Given the description of an element on the screen output the (x, y) to click on. 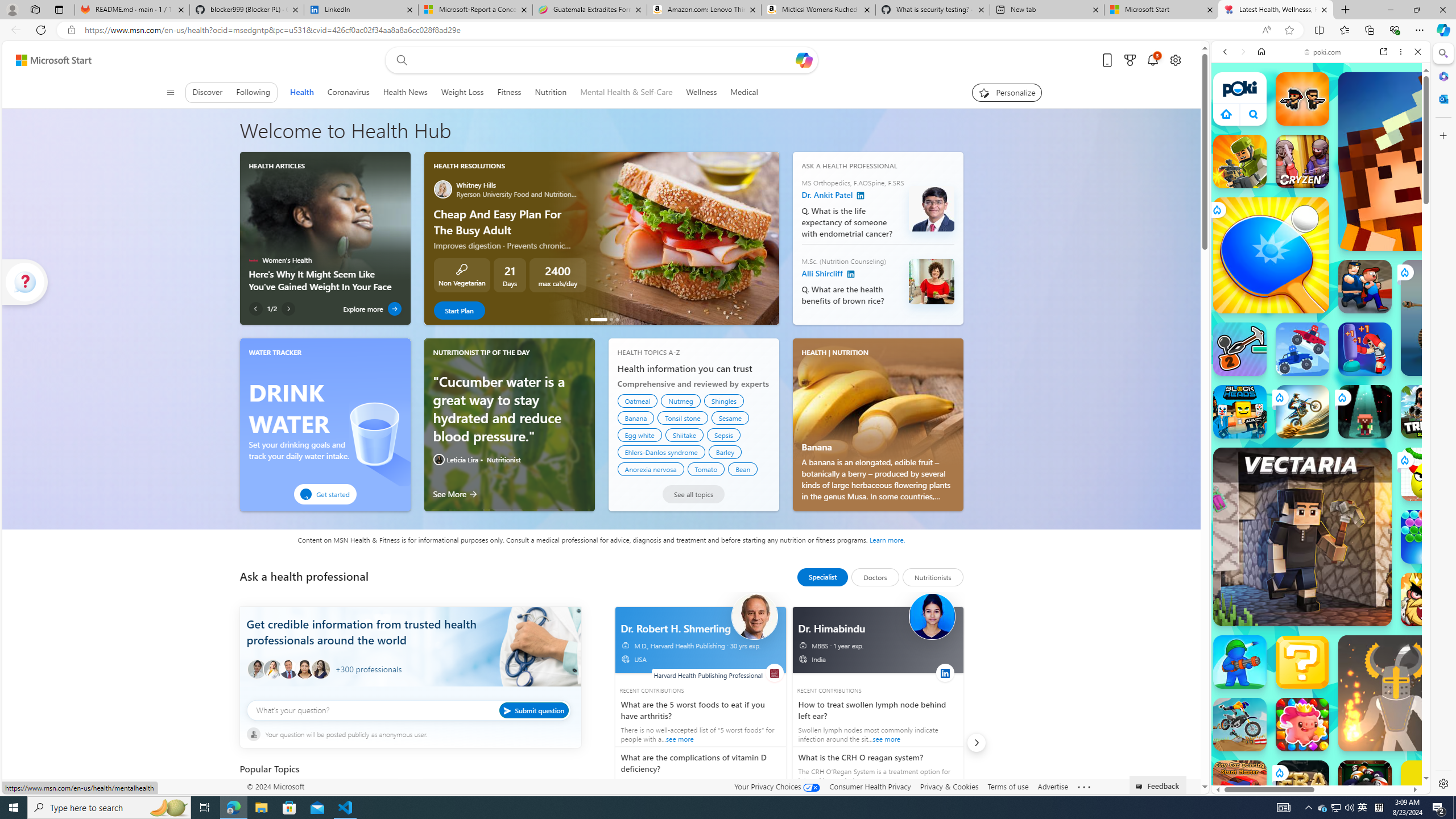
Punch Legend Simulator (1364, 348)
Nutrition (550, 92)
Health News (405, 92)
Draw To Smash: Logic Puzzle (1427, 474)
Banana (877, 402)
